Given the description of an element on the screen output the (x, y) to click on. 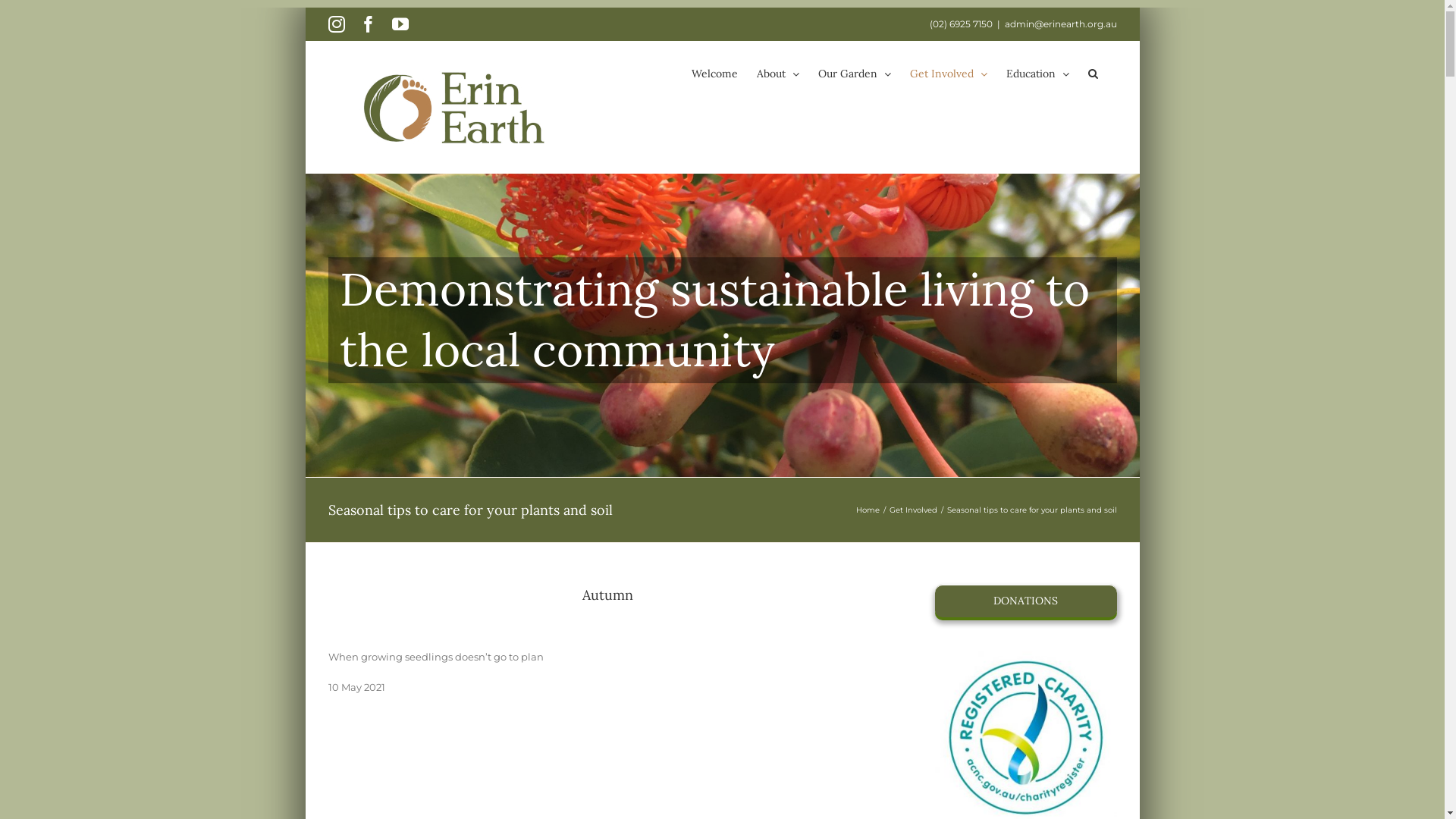
Get Involved Element type: text (948, 73)
admin@erinearth.org.au Element type: text (1060, 23)
Welcome Element type: text (714, 73)
DONATIONS Element type: text (1025, 600)
About Element type: text (777, 73)
Education Element type: text (1036, 73)
Our Garden Element type: text (853, 73)
Facebook Element type: text (367, 23)
YouTube Element type: text (399, 23)
Search Element type: hover (1092, 73)
Get Involved Element type: text (912, 509)
Instagram Element type: text (335, 23)
Home Element type: text (866, 509)
